Given the description of an element on the screen output the (x, y) to click on. 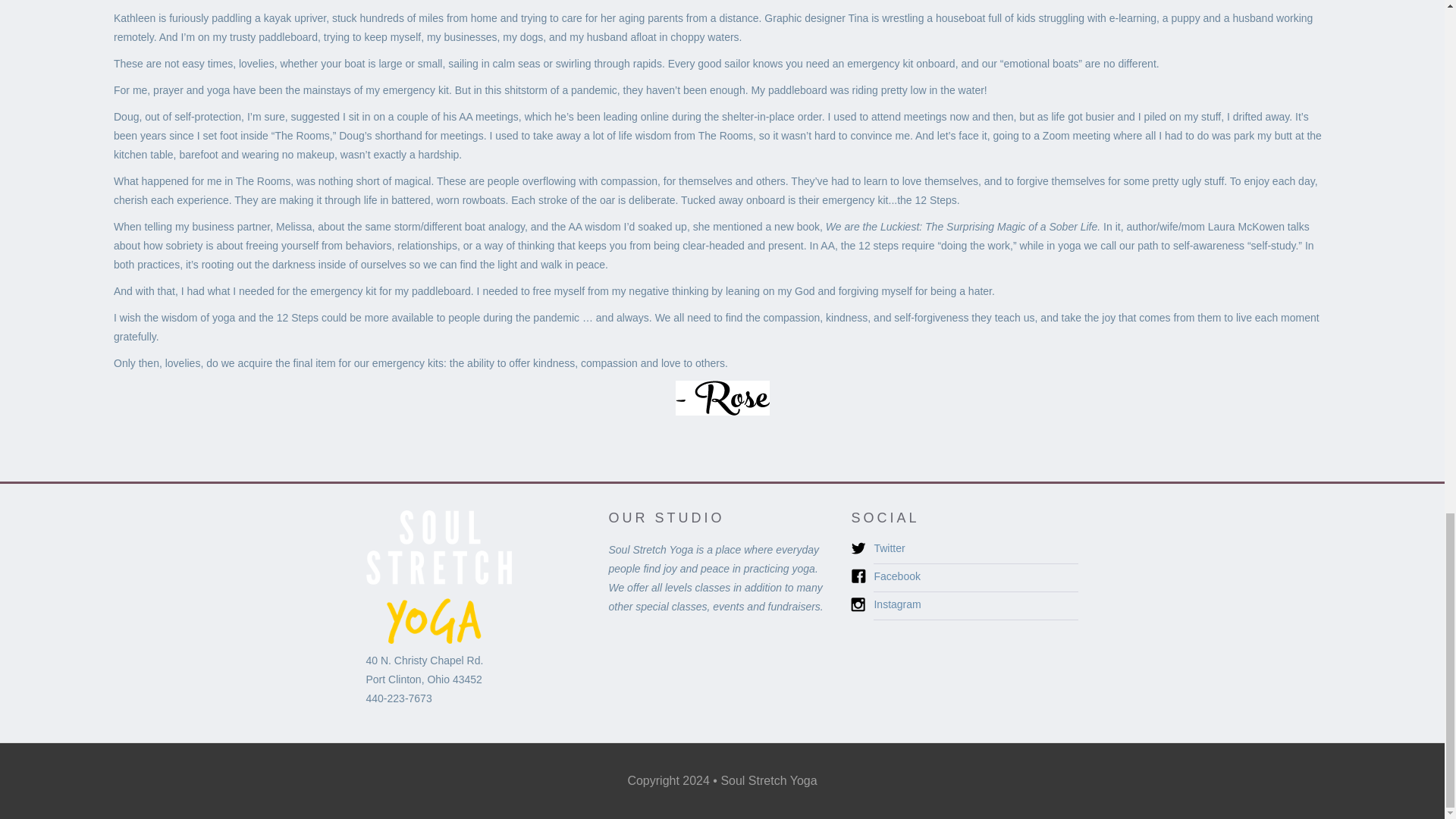
Instagram (975, 608)
Twitter (975, 552)
Facebook (975, 580)
